Given the description of an element on the screen output the (x, y) to click on. 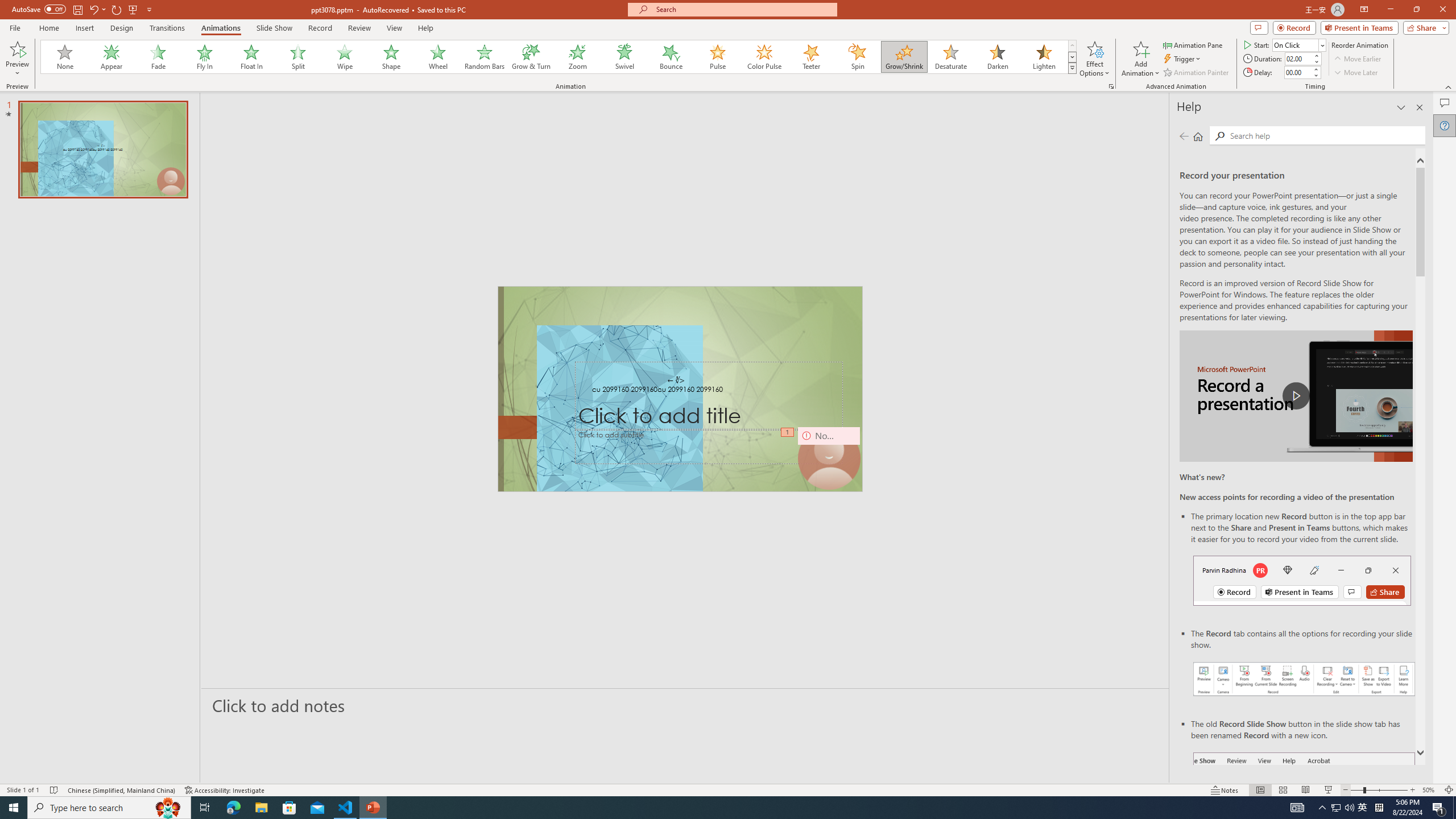
Grow & Turn (531, 56)
Effect Options (1094, 58)
More Options... (1110, 85)
